Given the description of an element on the screen output the (x, y) to click on. 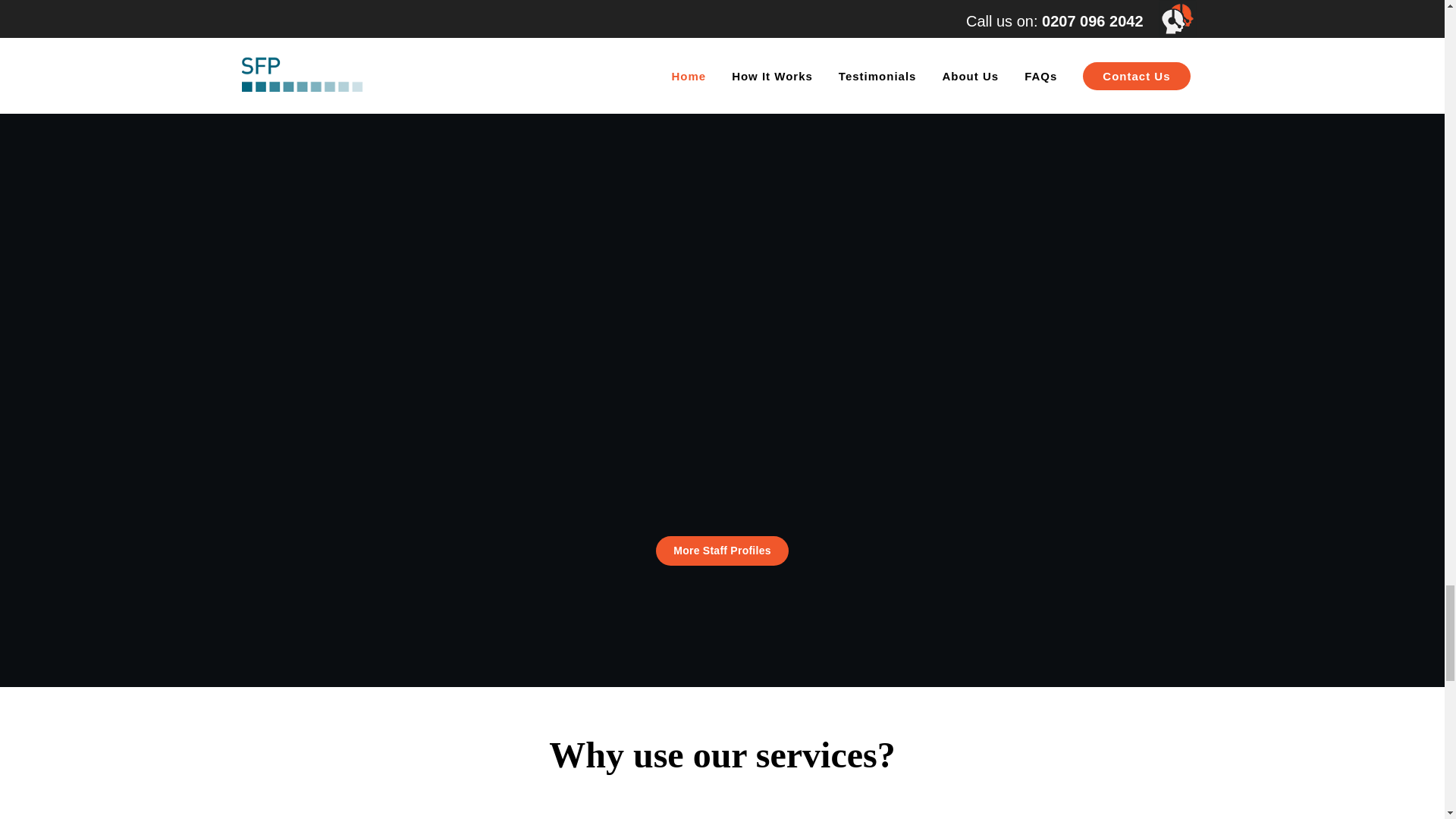
More Staff Profiles (721, 550)
